Given the description of an element on the screen output the (x, y) to click on. 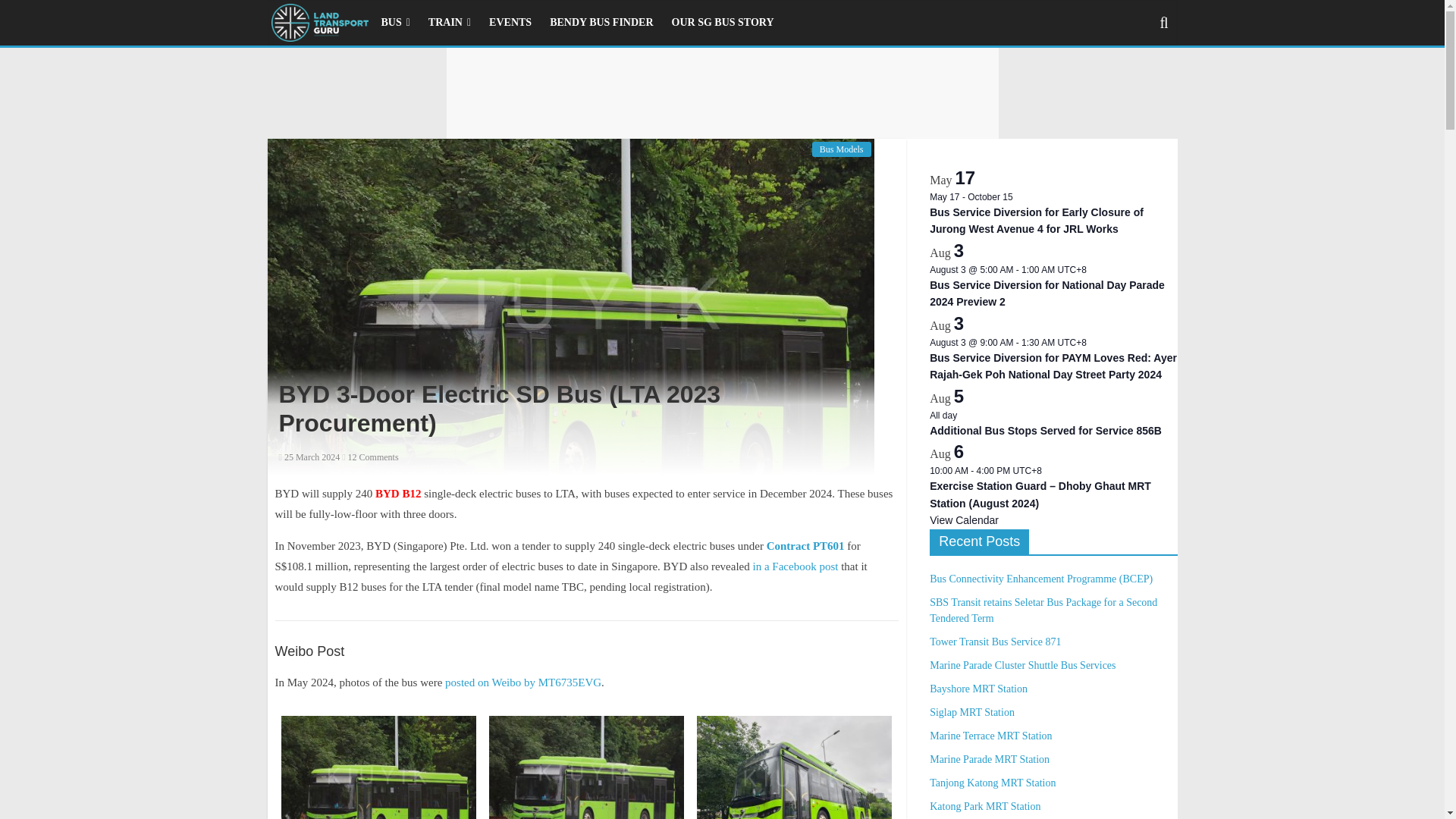
Contract PT601 (805, 545)
25 March 2024 (309, 457)
OUR SG BUS STORY (722, 22)
Additional Bus Stops Served for Service 856B (1045, 431)
View more events. (964, 520)
EVENTS (510, 22)
12 Comments (369, 457)
Bus Models (841, 149)
Bus Service Diversion for National Day Parade 2024 Preview 2 (1047, 294)
360 new 3-door electric buses procured by LTA (805, 545)
in a Facebook post (795, 566)
BENDY BUS FINDER (601, 22)
posted on Weibo by MT6735EVG (523, 682)
2:09 PM (309, 457)
